Given the description of an element on the screen output the (x, y) to click on. 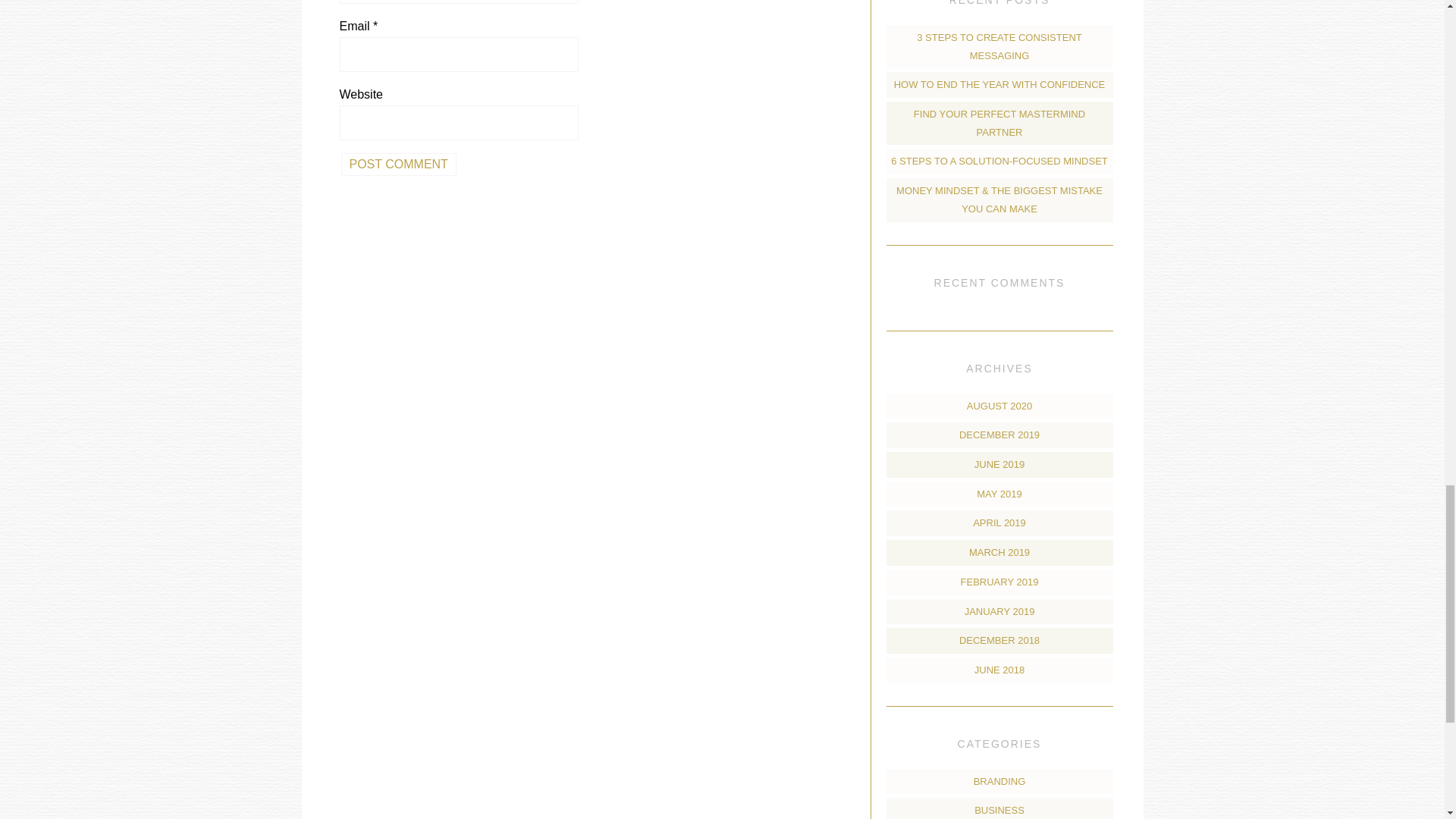
Post Comment (398, 164)
3 STEPS TO CREATE CONSISTENT MESSAGING (999, 46)
FIND YOUR PERFECT MASTERMIND PARTNER (999, 123)
HOW TO END THE YEAR WITH CONFIDENCE (999, 84)
Post Comment (398, 164)
6 STEPS TO A SOLUTION-FOCUSED MINDSET (999, 161)
